Given the description of an element on the screen output the (x, y) to click on. 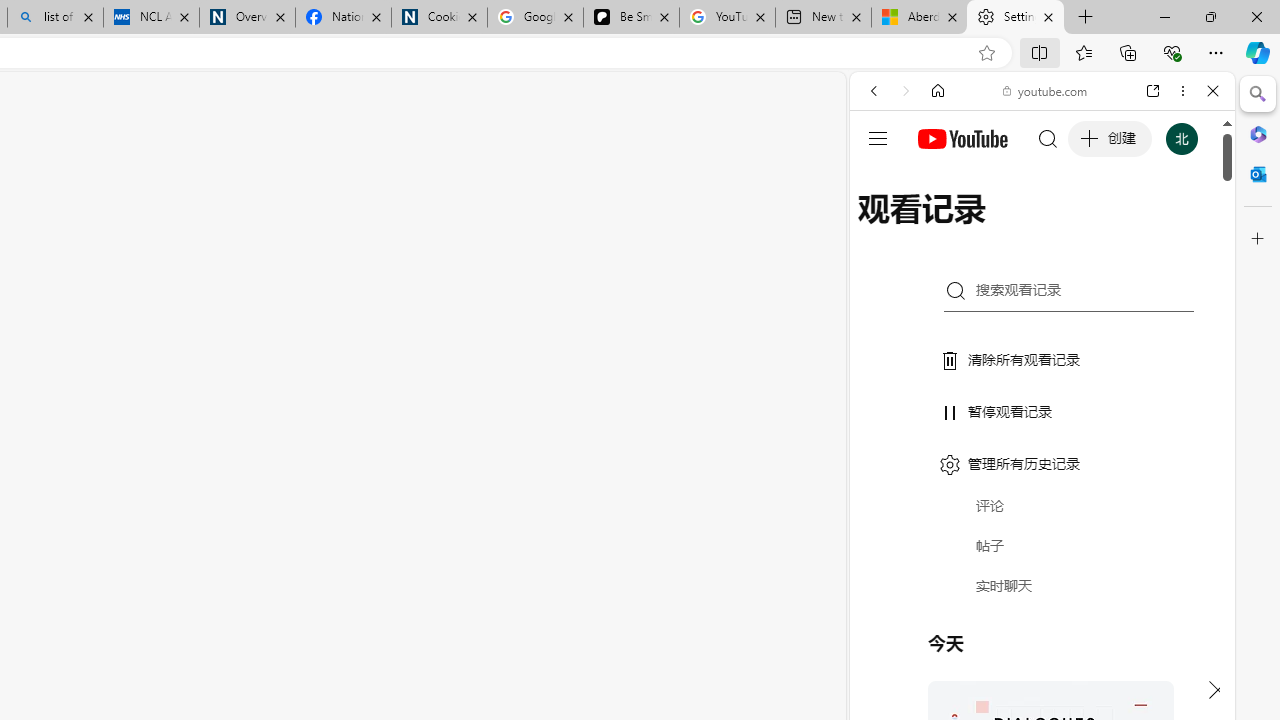
Search videos from youtube.com (1005, 657)
Preferences (1189, 228)
NCL Adult Asthma Inhaler Choice Guideline (150, 17)
Trailer #2 [HD] (1042, 594)
Close Customize pane (1258, 239)
